Given the description of an element on the screen output the (x, y) to click on. 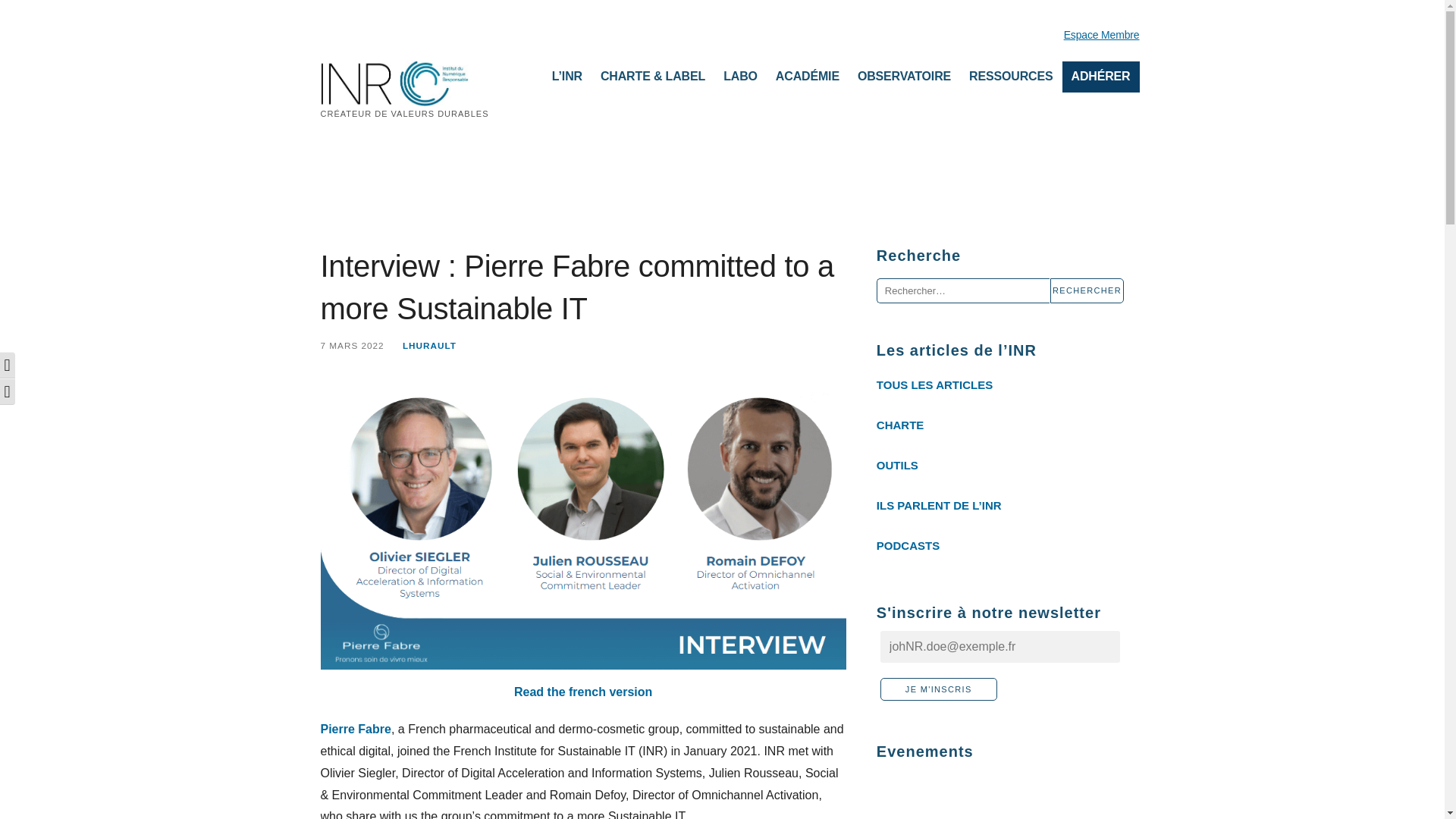
Rechercher (1086, 290)
Rechercher (1086, 290)
LABO (740, 77)
Espace Membre (1097, 34)
OBSERVATOIRE (903, 77)
Je m'inscris (938, 689)
